Given the description of an element on the screen output the (x, y) to click on. 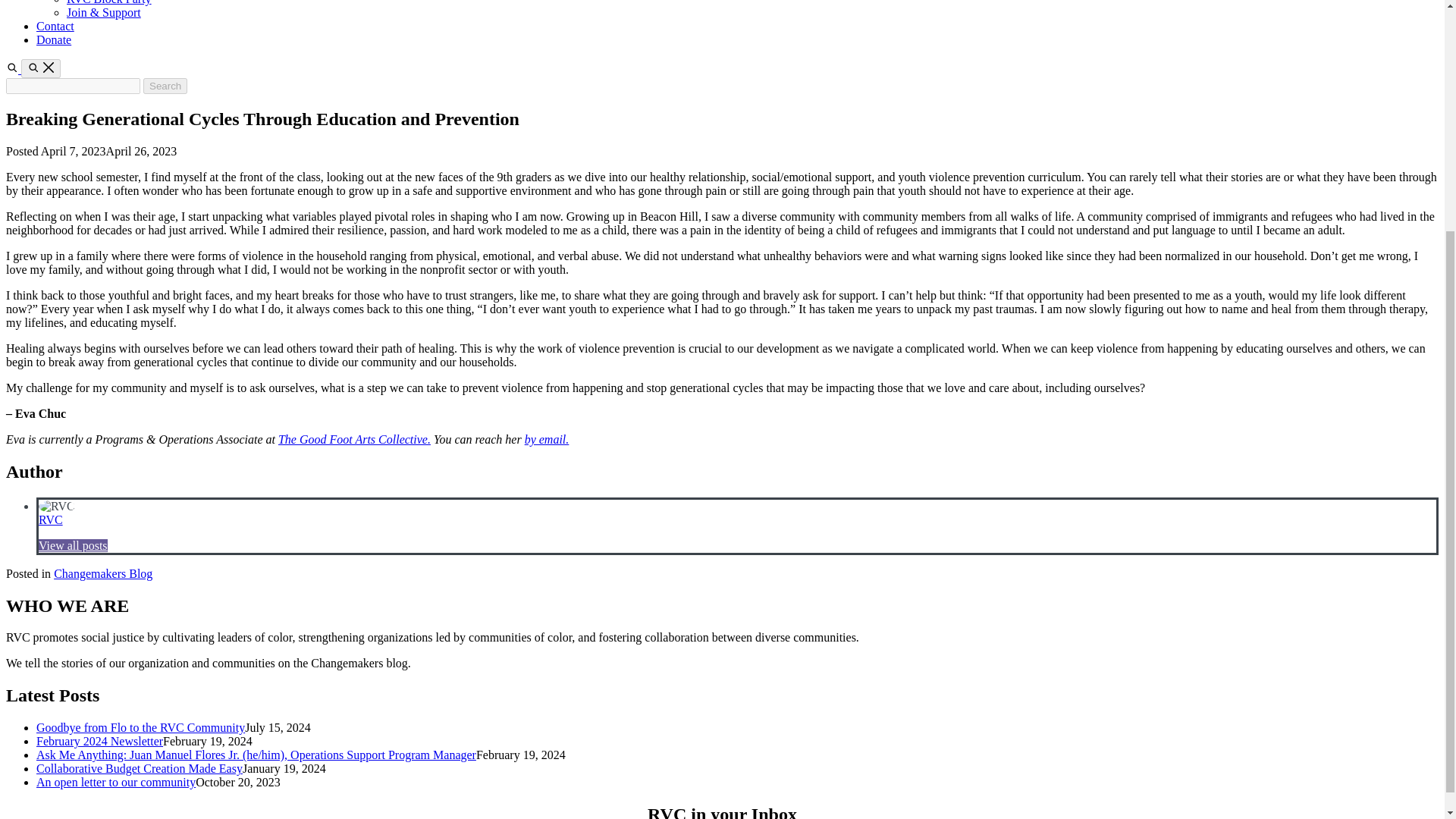
Search (164, 85)
RVC (50, 519)
by email. (546, 439)
Goodbye from Flo to the RVC Community (140, 727)
Contact (55, 25)
Collaborative Budget Creation Made Easy (139, 768)
Search (41, 67)
RVC Block Party (108, 2)
February 2024 Newsletter (99, 740)
An open letter to our community (115, 781)
Changemakers Blog (102, 573)
View all posts (73, 545)
View all posts (73, 545)
RVC (50, 519)
Search (13, 69)
